Given the description of an element on the screen output the (x, y) to click on. 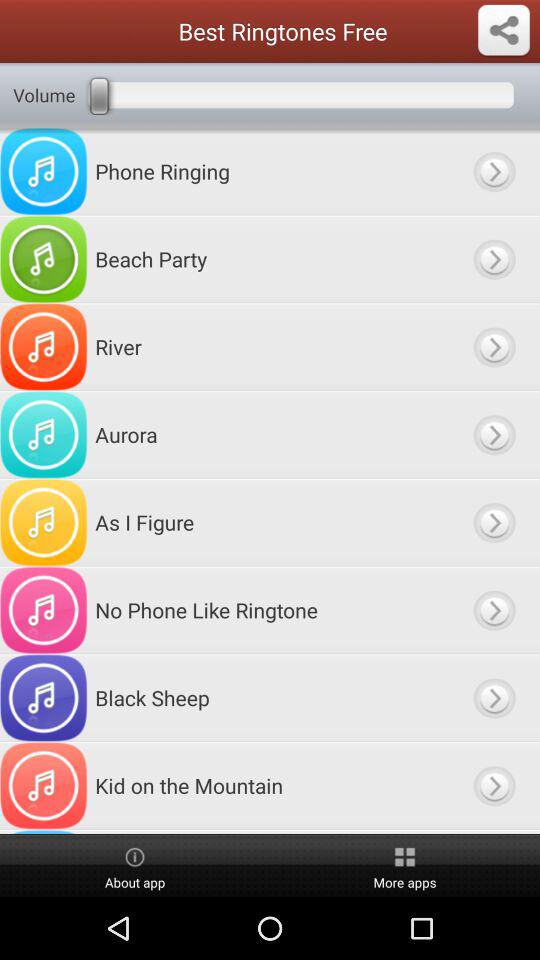
select track beach party (494, 259)
